Given the description of an element on the screen output the (x, y) to click on. 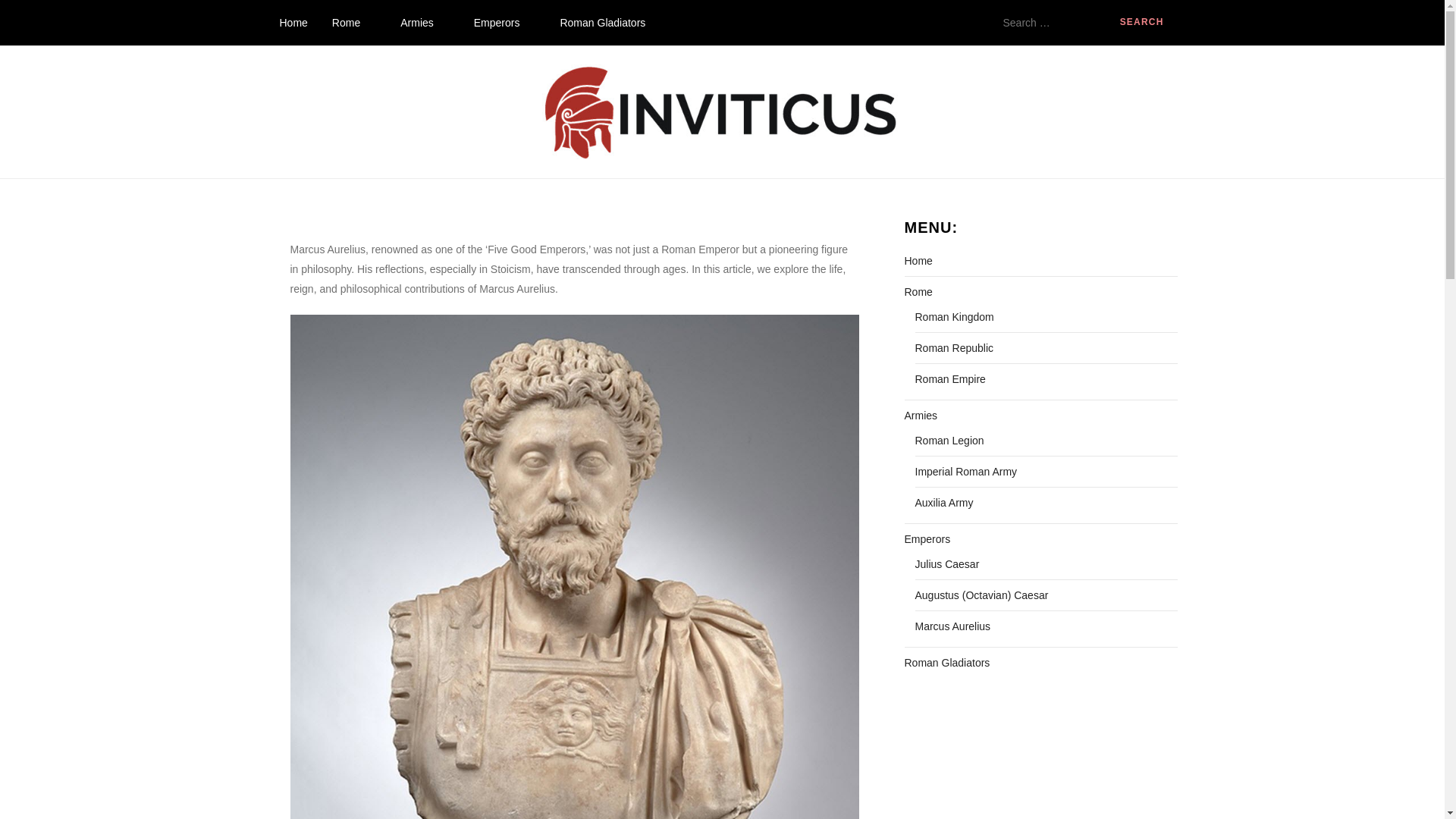
Rome (917, 291)
Rome (354, 22)
Inviticus (312, 172)
Armies (424, 22)
Roman Kingdom (953, 316)
Armies (920, 415)
Search (1141, 22)
Emperors (927, 538)
Roman Gladiators (602, 22)
Roman Legion (949, 440)
Marcus Aurelius (952, 626)
Auxilia Army (943, 502)
Roman Empire (949, 379)
Roman Republic (953, 347)
Home (917, 260)
